Given the description of an element on the screen output the (x, y) to click on. 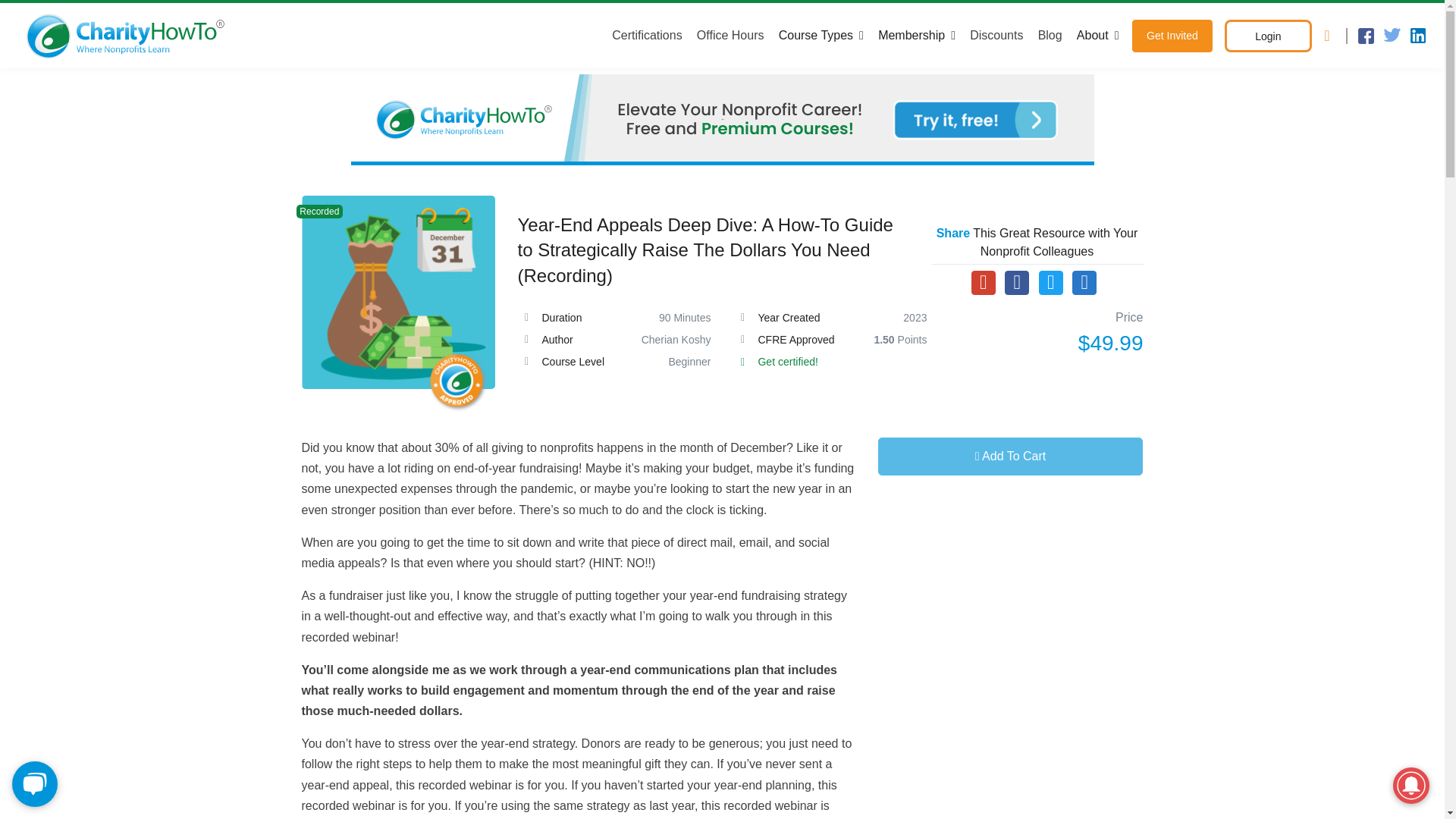
Certifications (649, 35)
Get Invited (1172, 35)
Office Hours (729, 35)
Course Types (820, 35)
About (1096, 35)
Login (1267, 35)
Chat Widget (37, 782)
Membership (916, 35)
Discounts (996, 35)
